Given the description of an element on the screen output the (x, y) to click on. 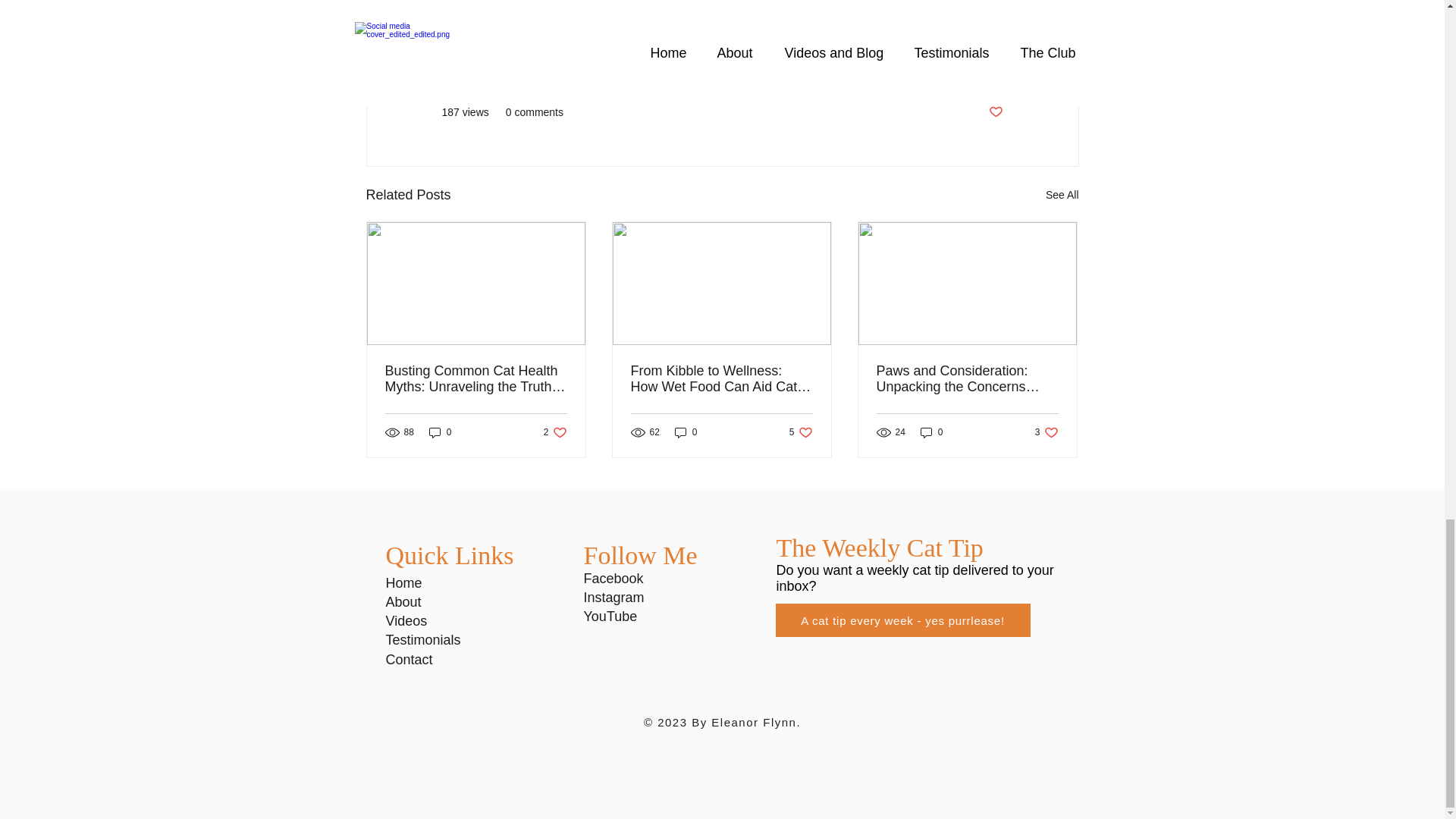
0 (440, 432)
Videos (405, 620)
YouTube (610, 616)
About (402, 601)
Testimonials (422, 639)
0 (685, 432)
Post not marked as liked (995, 112)
